Given the description of an element on the screen output the (x, y) to click on. 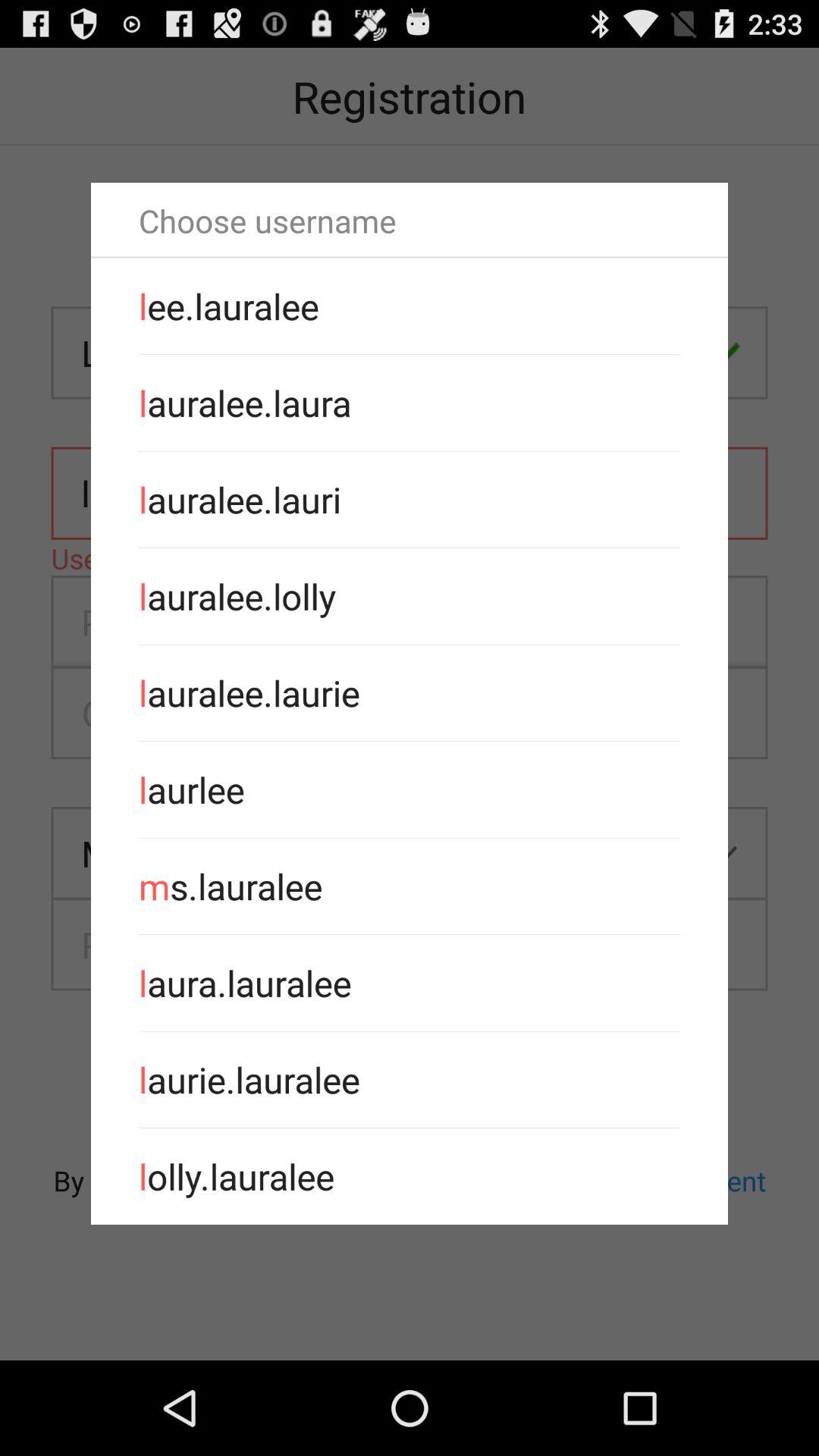
tap laurlee icon (409, 789)
